Given the description of an element on the screen output the (x, y) to click on. 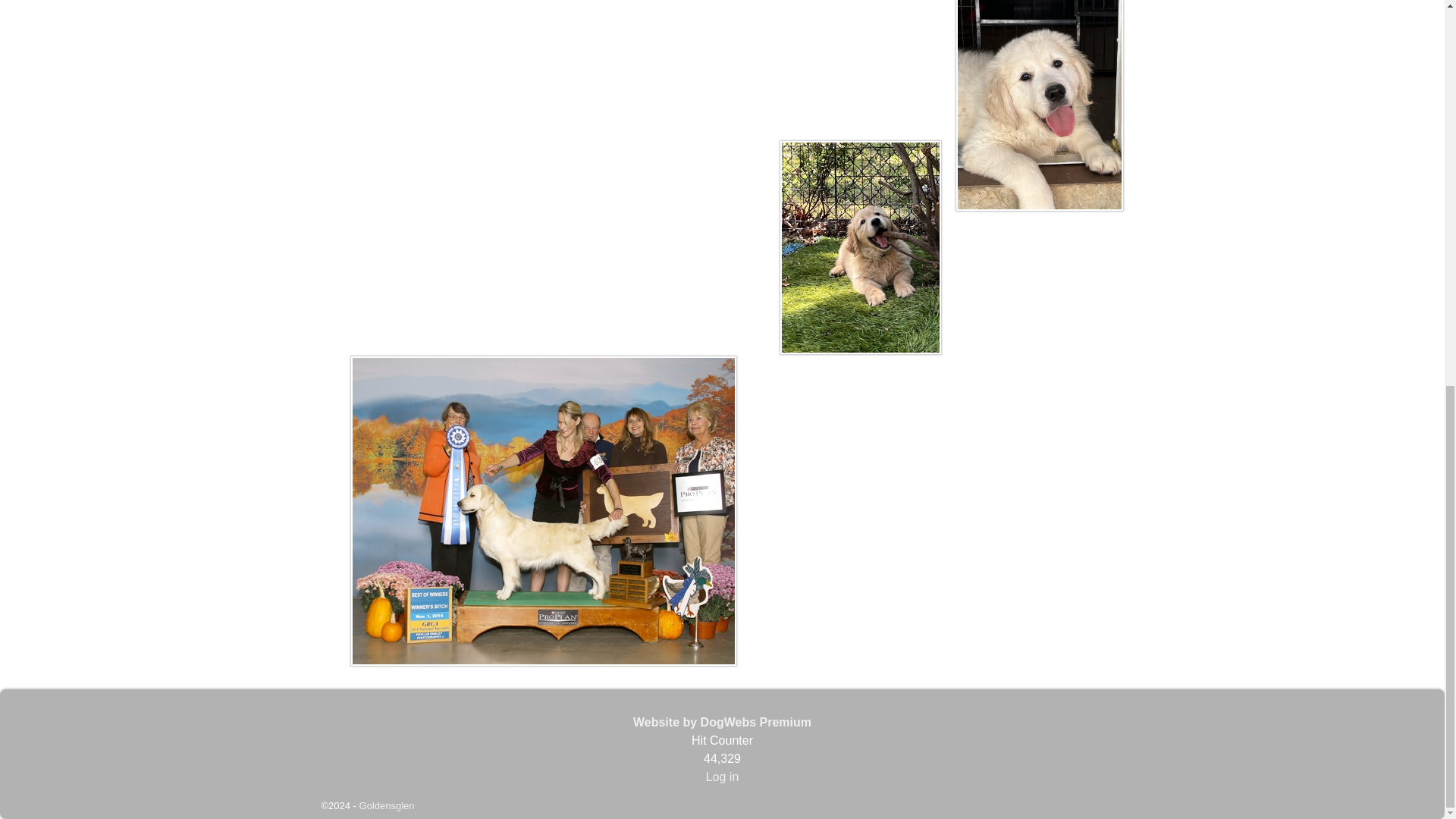
Goldensglen (386, 805)
Goldensglen (386, 805)
Website by DogWebs Premium (721, 721)
Log in (722, 776)
